Given the description of an element on the screen output the (x, y) to click on. 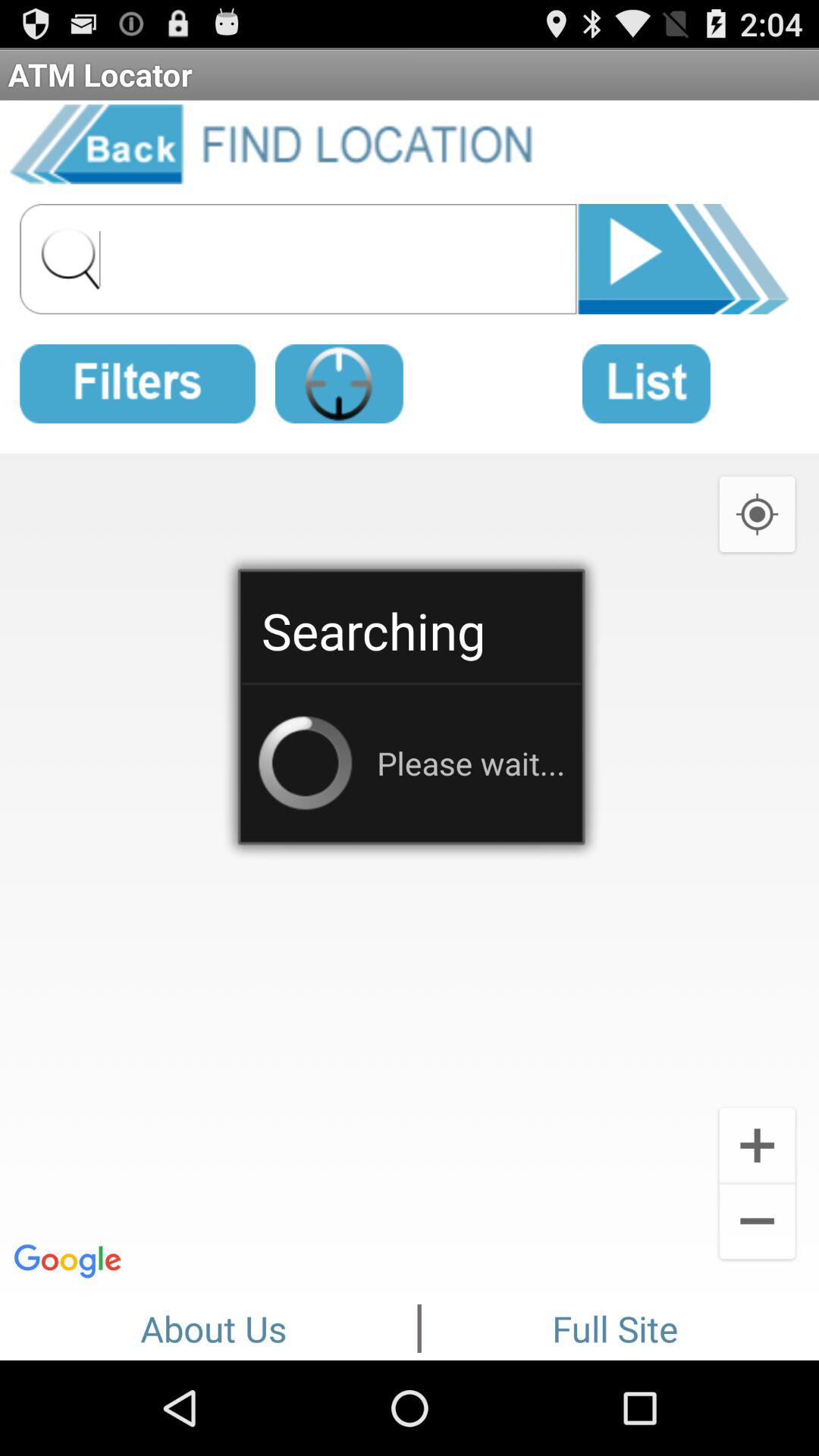
turn on the app above about us (409, 871)
